Given the description of an element on the screen output the (x, y) to click on. 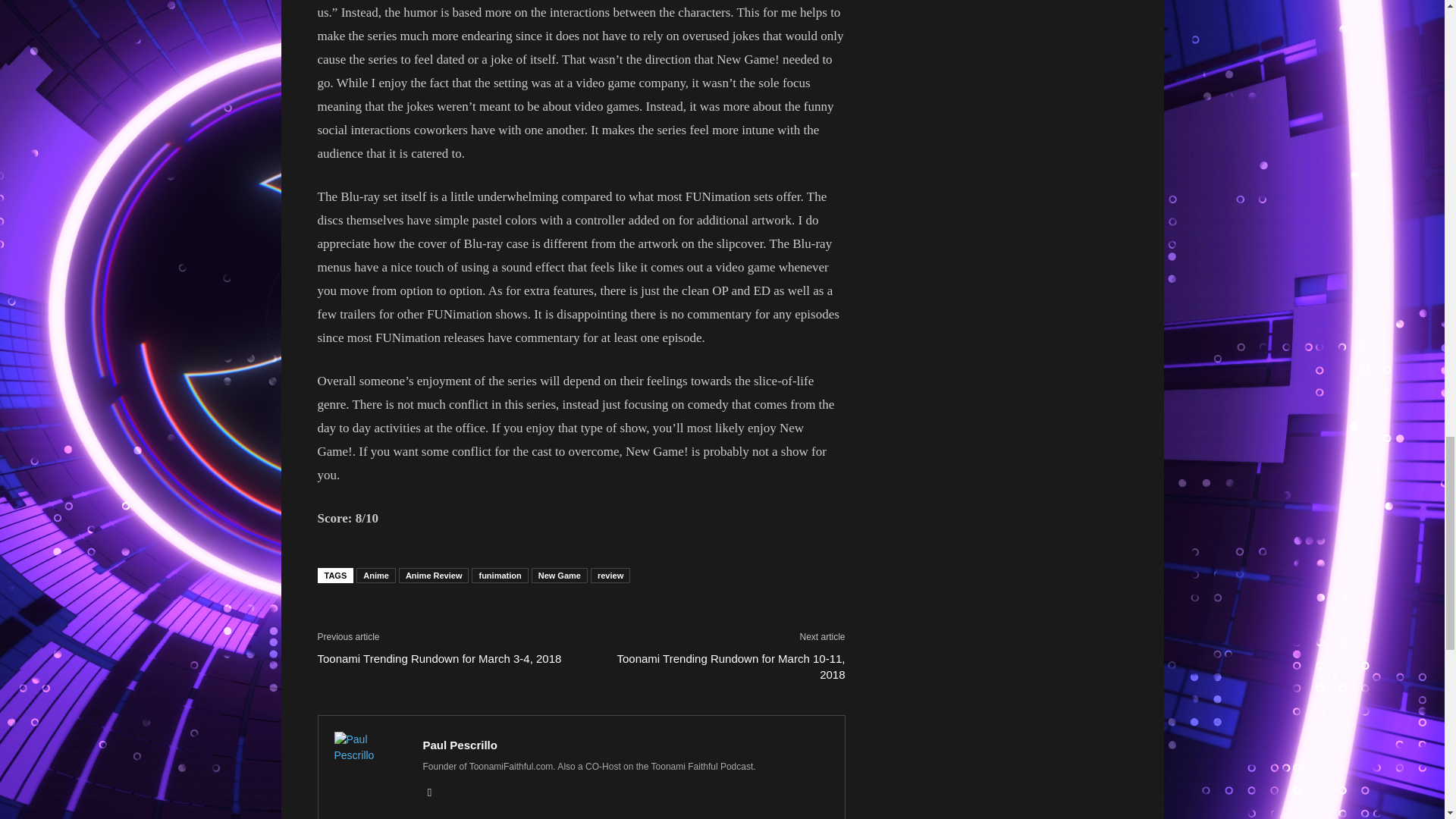
bottomFacebookLike (430, 616)
Instagram (435, 791)
